Given the description of an element on the screen output the (x, y) to click on. 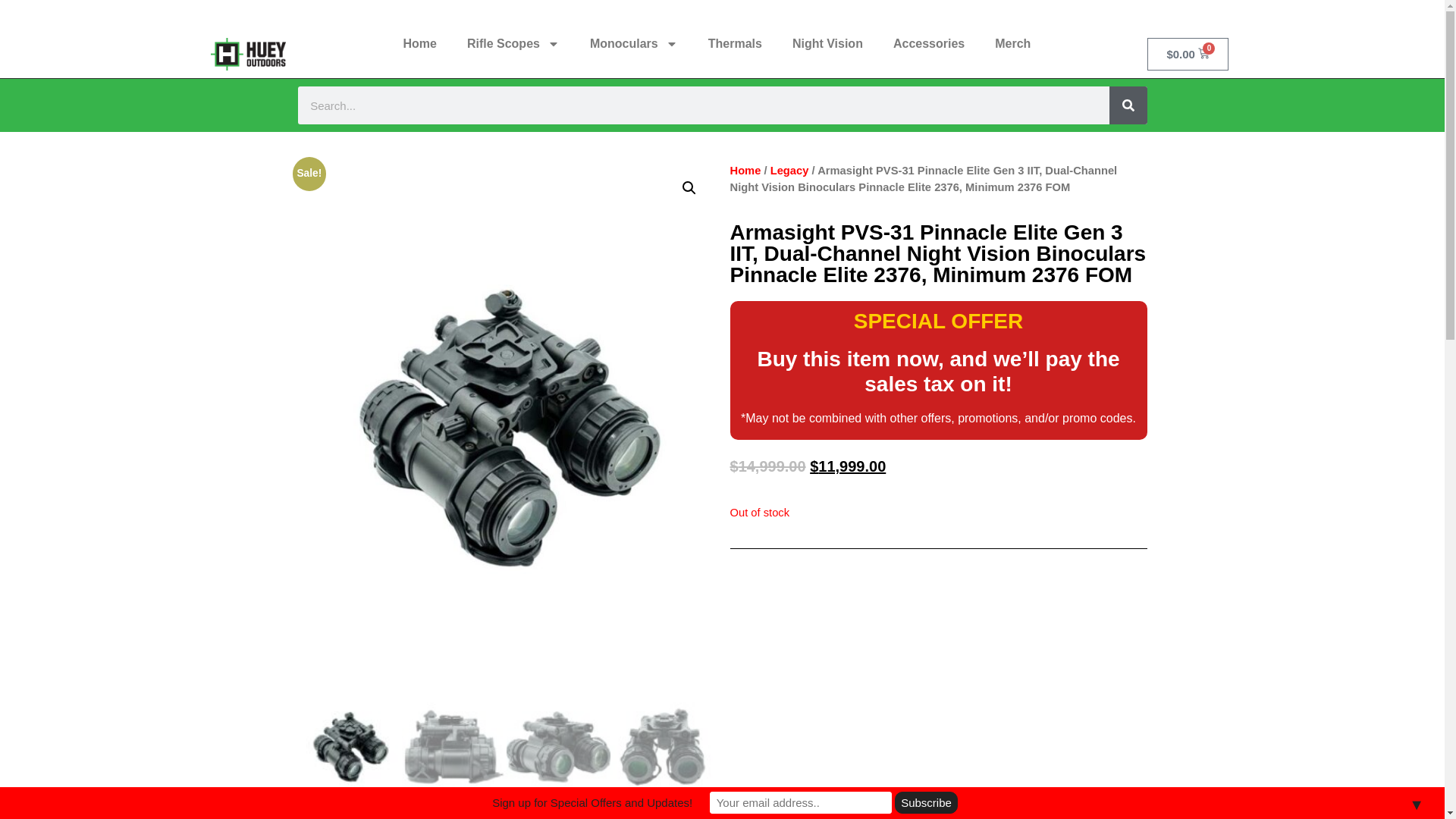
Thermals (735, 43)
Accessories (928, 43)
Rifle Scopes (513, 43)
Monoculars (634, 43)
Night Vision (827, 43)
Merch (1012, 43)
Subscribe (926, 802)
Home (419, 43)
